Given the description of an element on the screen output the (x, y) to click on. 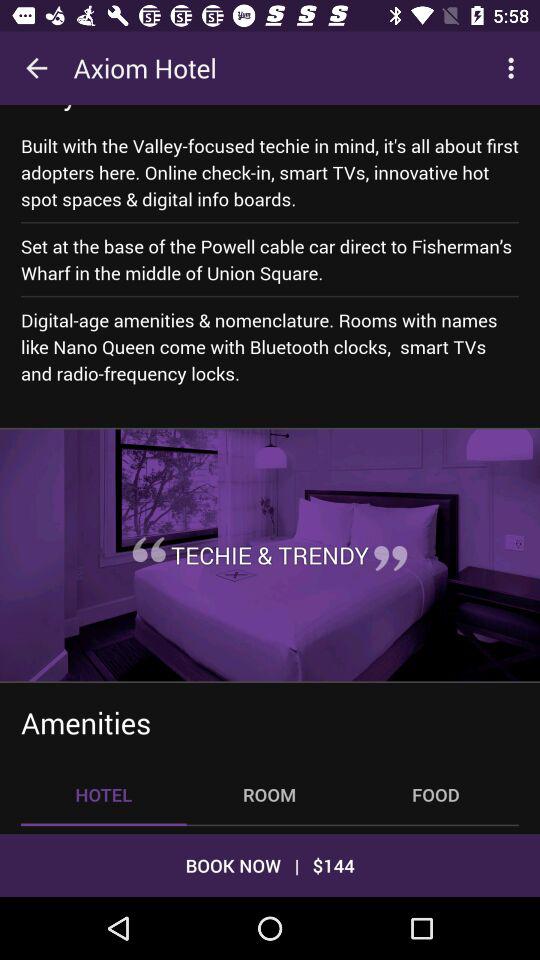
press icon below digital age amenities icon (270, 555)
